Given the description of an element on the screen output the (x, y) to click on. 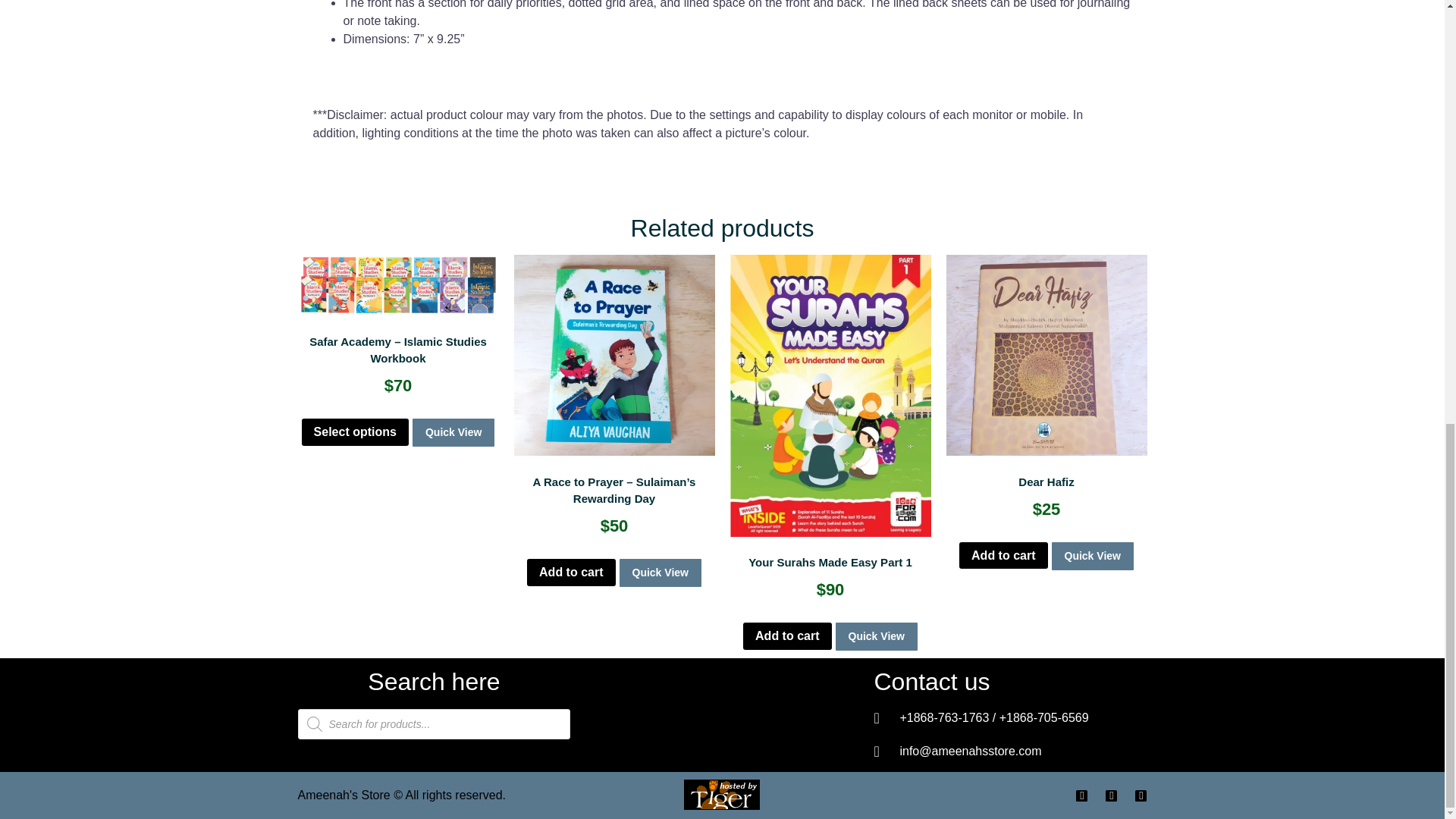
Add to cart (570, 572)
Quick View (453, 432)
Select options (355, 431)
Quick View (659, 572)
